Given the description of an element on the screen output the (x, y) to click on. 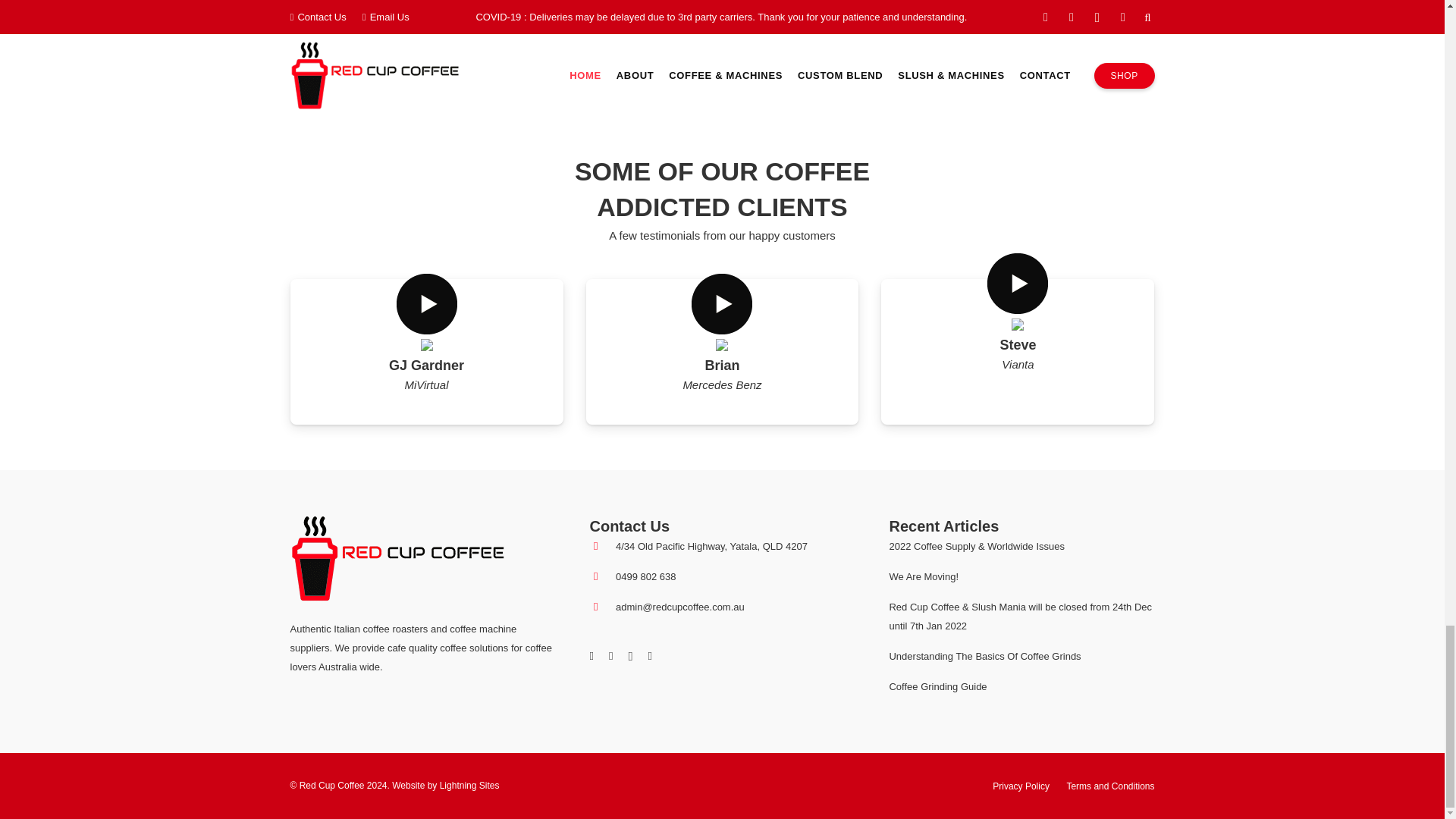
LEARN MORE (721, 14)
LEARN MORE (1029, 14)
LEARN MORE (414, 14)
